Given the description of an element on the screen output the (x, y) to click on. 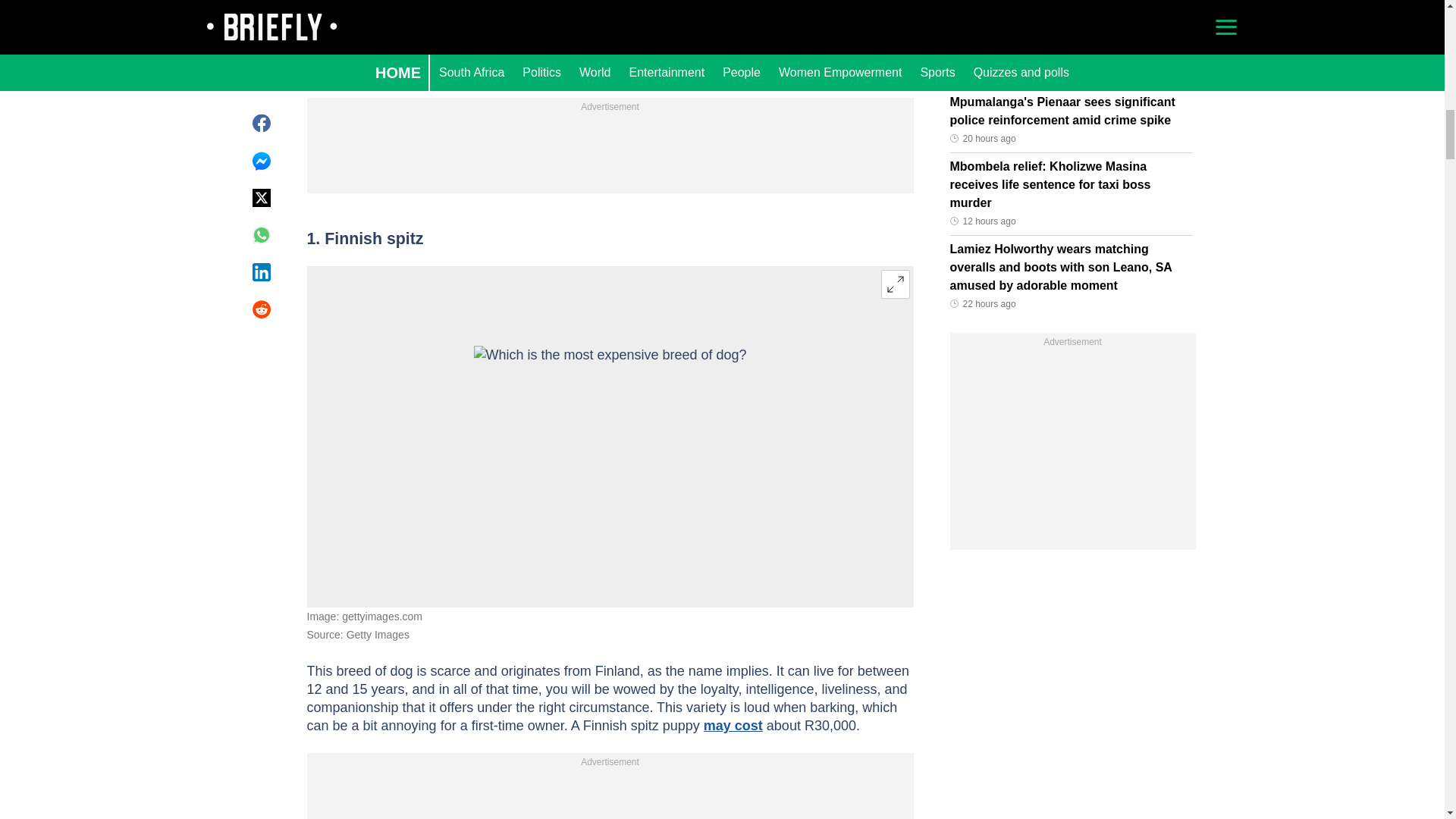
Which is the most expensive breed of dog? (609, 436)
Expand image (895, 284)
